Given the description of an element on the screen output the (x, y) to click on. 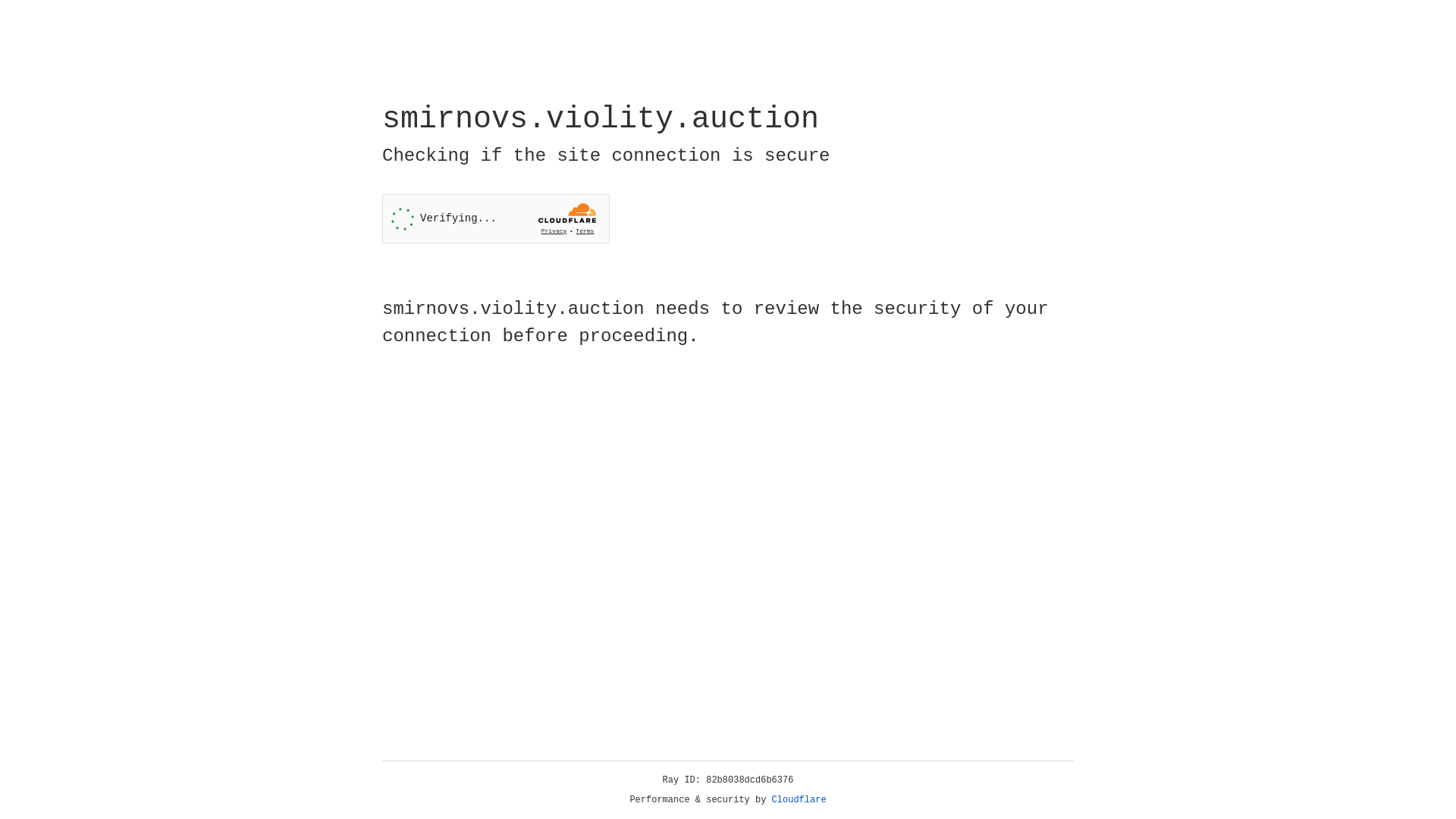
Widget containing a Cloudflare security challenge Element type: hover (495, 218)
Cloudflare Element type: text (798, 799)
